Given the description of an element on the screen output the (x, y) to click on. 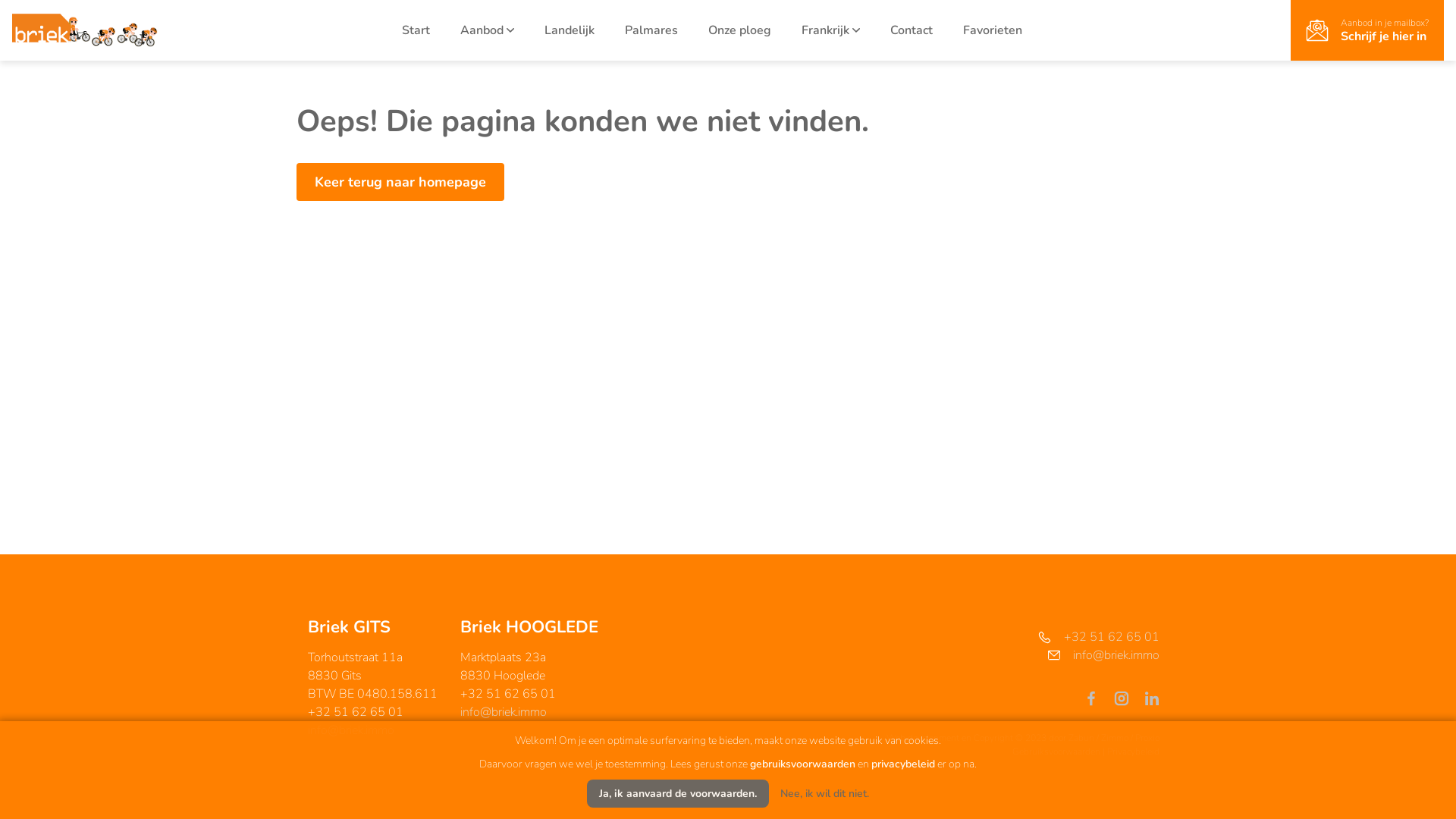
Facebook Element type: text (1096, 697)
Aanbod Element type: text (487, 30)
Aanbod in je mailbox?
Schrijf je hier in Element type: text (1366, 30)
Onze ploeg Element type: text (739, 29)
Privacybeleid Element type: text (1133, 751)
info@briek.immo Element type: text (503, 711)
privacybeleid Element type: text (903, 763)
Favorieten Element type: text (992, 29)
Contact Element type: text (911, 29)
Zimmo Element type: text (1114, 737)
info@briek.immo Element type: text (350, 729)
gebruiksvoorwaarden Element type: text (802, 763)
Palmares Element type: text (650, 29)
info@briek.immo Element type: text (1022, 655)
Zabun Element type: text (1081, 737)
Keer terug naar homepage Element type: text (400, 181)
Start Element type: text (415, 29)
Linkedin Element type: text (1151, 697)
Landelijk Element type: text (569, 29)
Gebruiksvoorwaarden Element type: text (1057, 751)
Proxio Element type: text (1147, 737)
Ja, ik aanvaard de voorwaarden. Element type: text (677, 793)
Nee, ik wil dit niet. Element type: text (824, 793)
Frankrijk Element type: text (830, 30)
Instagram Element type: text (1127, 697)
+32 51 62 65 01 Element type: text (1022, 636)
